Given the description of an element on the screen output the (x, y) to click on. 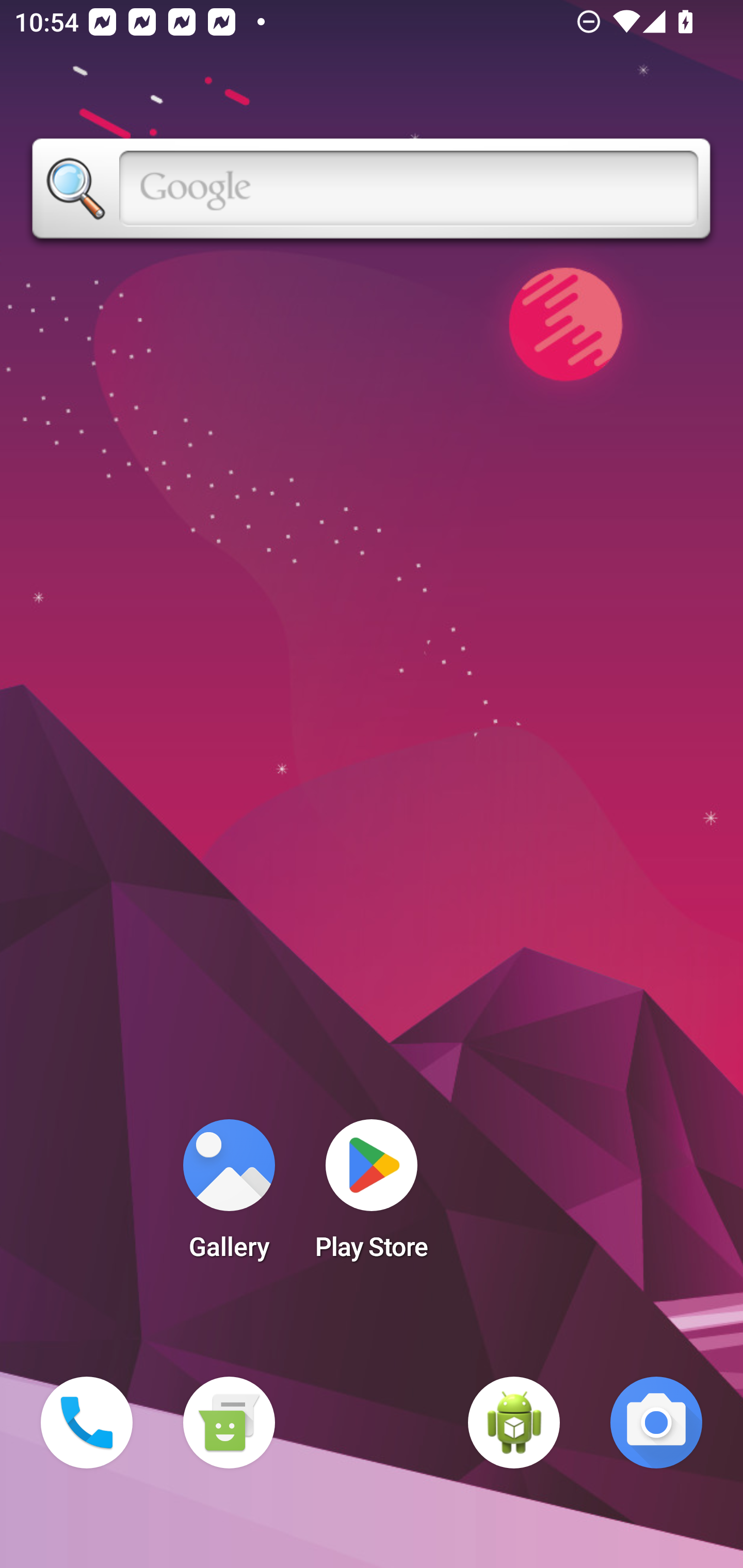
Gallery (228, 1195)
Play Store (371, 1195)
Phone (86, 1422)
Messaging (228, 1422)
WebView Browser Tester (513, 1422)
Camera (656, 1422)
